Given the description of an element on the screen output the (x, y) to click on. 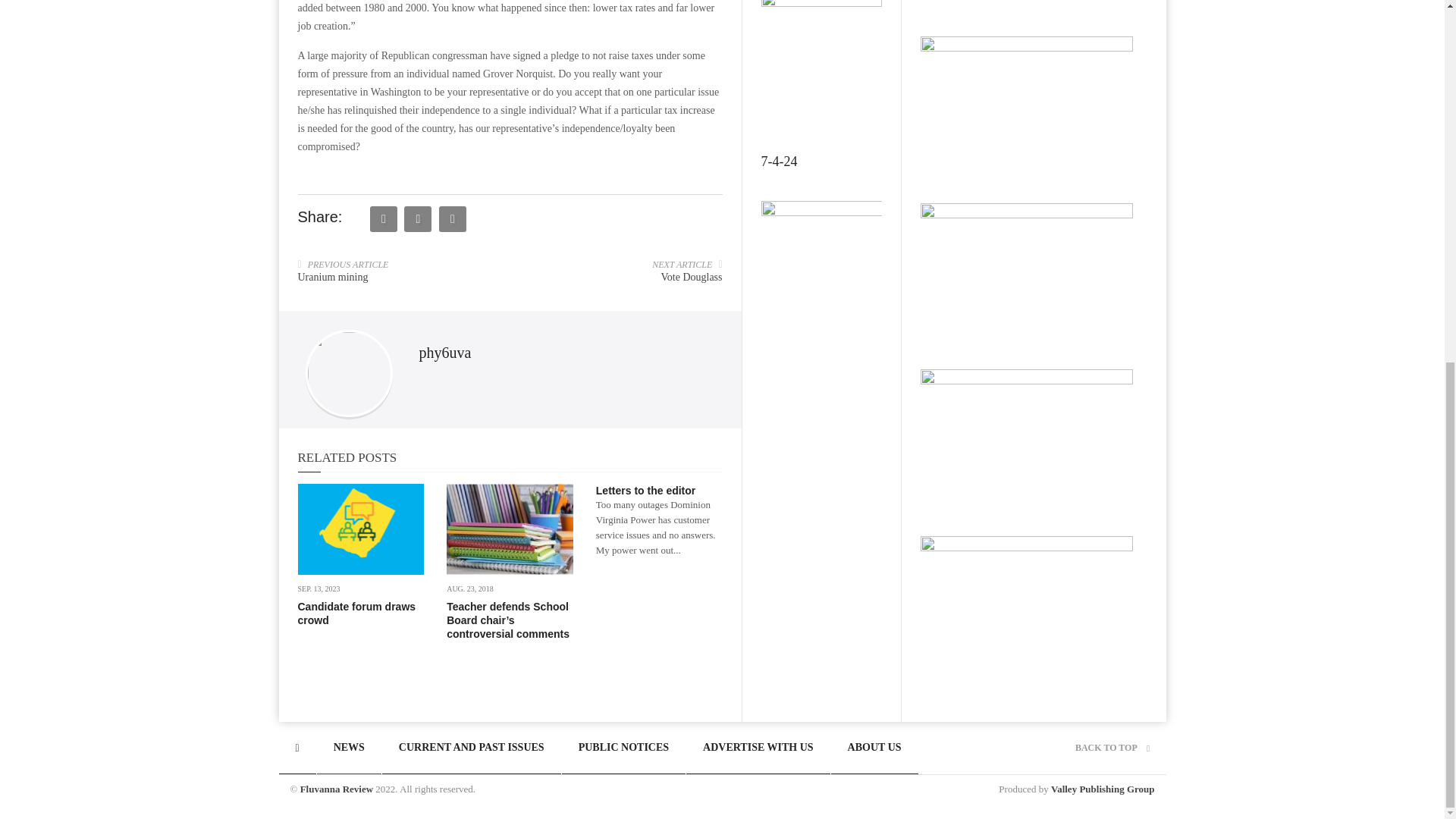
Uranium mining (332, 276)
BACK TO TOP (1112, 747)
Vote Douglass (691, 276)
Posts by phy6uva (444, 352)
